Given the description of an element on the screen output the (x, y) to click on. 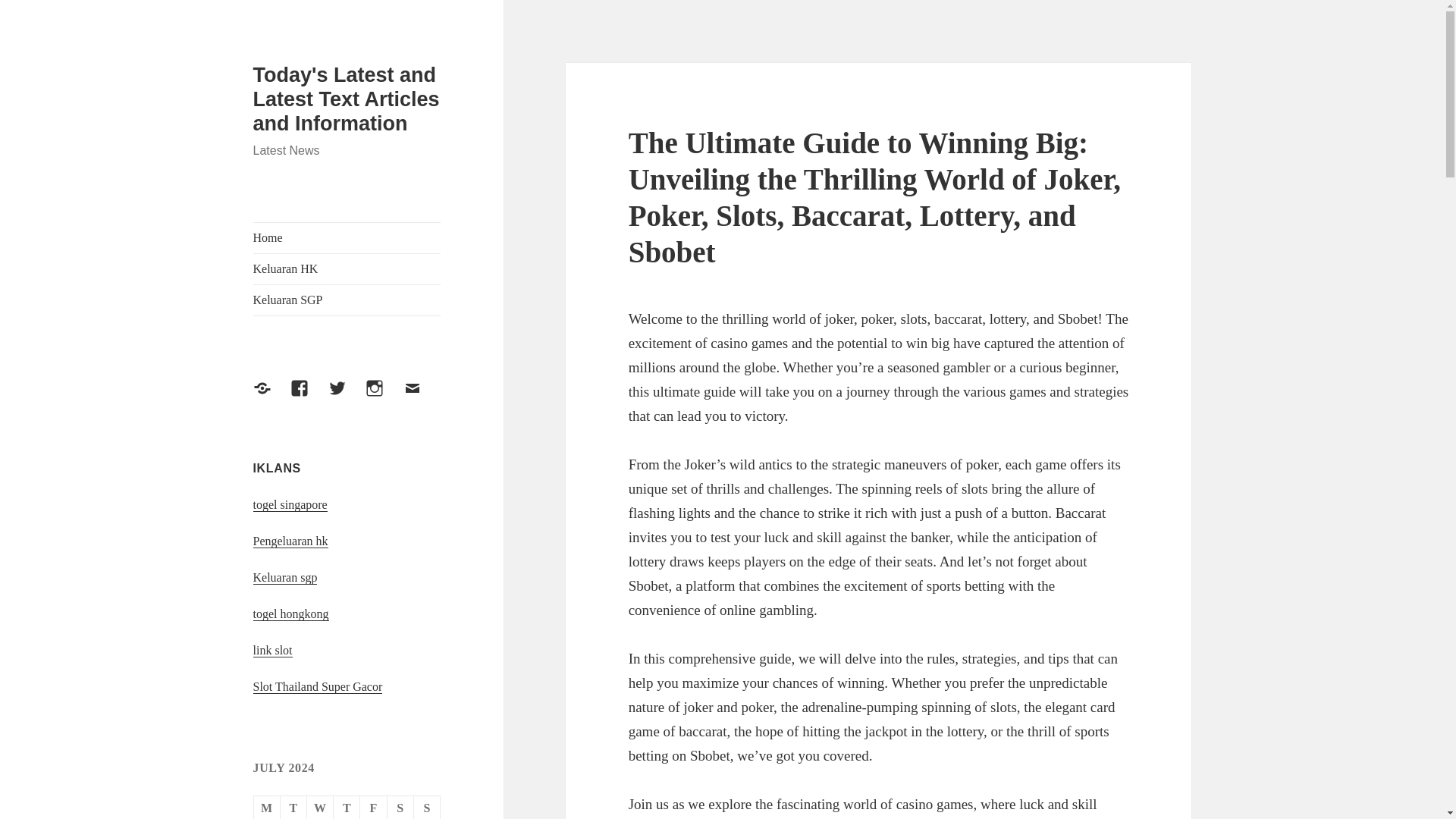
Today's Latest and Latest Text Articles and Information (346, 99)
Email (421, 397)
Slot Thailand Super Gacor (317, 686)
Facebook (307, 397)
Twitter (347, 397)
link slot (272, 650)
Monday (267, 807)
Keluaran SGP (347, 300)
Pengeluaran hk (291, 540)
Home (347, 237)
Yelp (271, 397)
togel singapore (290, 504)
Saturday (400, 807)
togel hongkong (291, 613)
Sunday (427, 807)
